Given the description of an element on the screen output the (x, y) to click on. 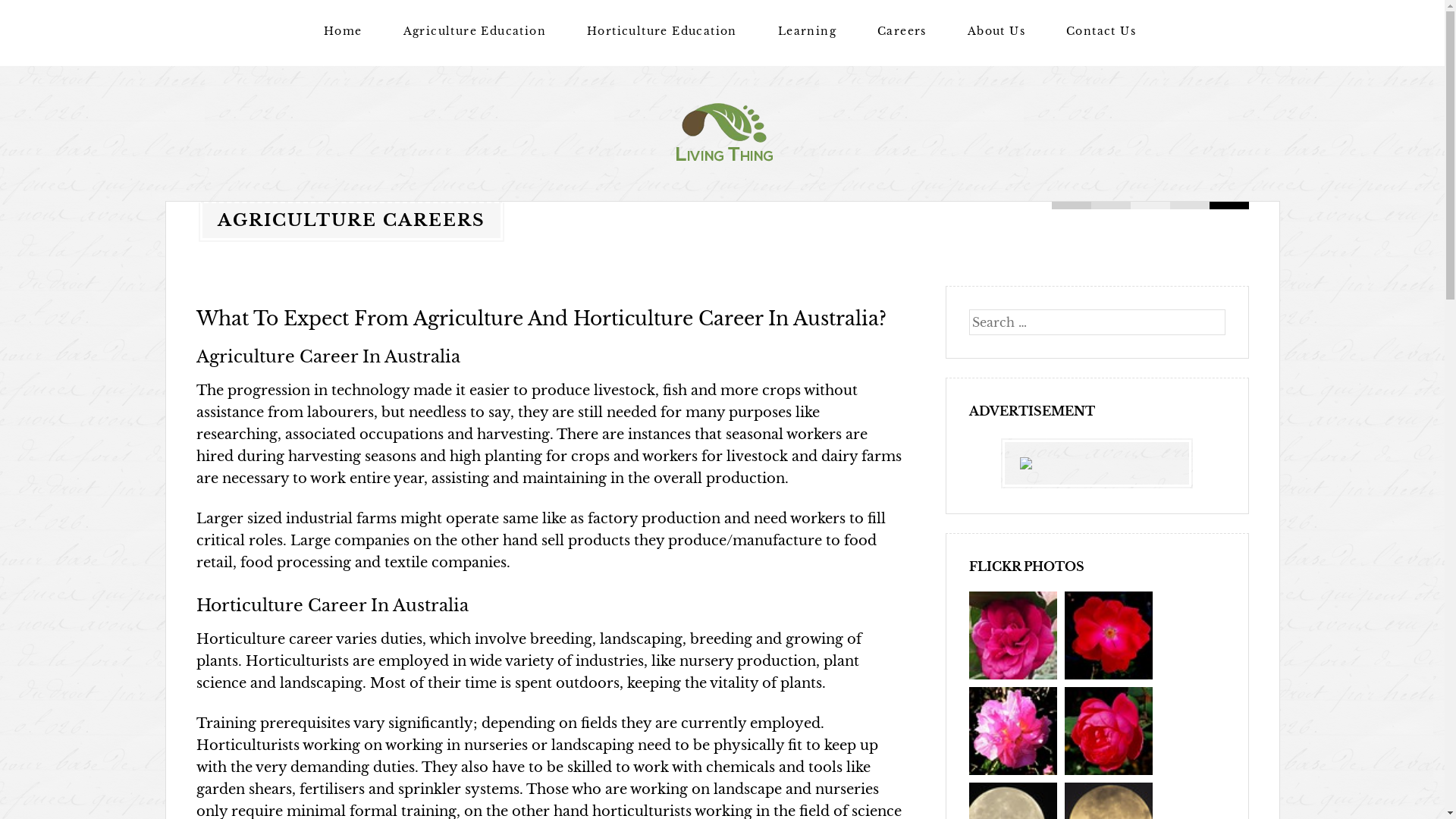
Contact Us Element type: text (1100, 31)
Home Element type: text (342, 31)
Horticulture Education Element type: text (661, 31)
Learning Element type: text (807, 31)
About Us Element type: text (996, 31)
Agriculture Education Element type: text (474, 31)
Search Element type: text (34, 15)
Careers Element type: text (901, 31)
Living Thing Element type: text (253, 193)
